Given the description of an element on the screen output the (x, y) to click on. 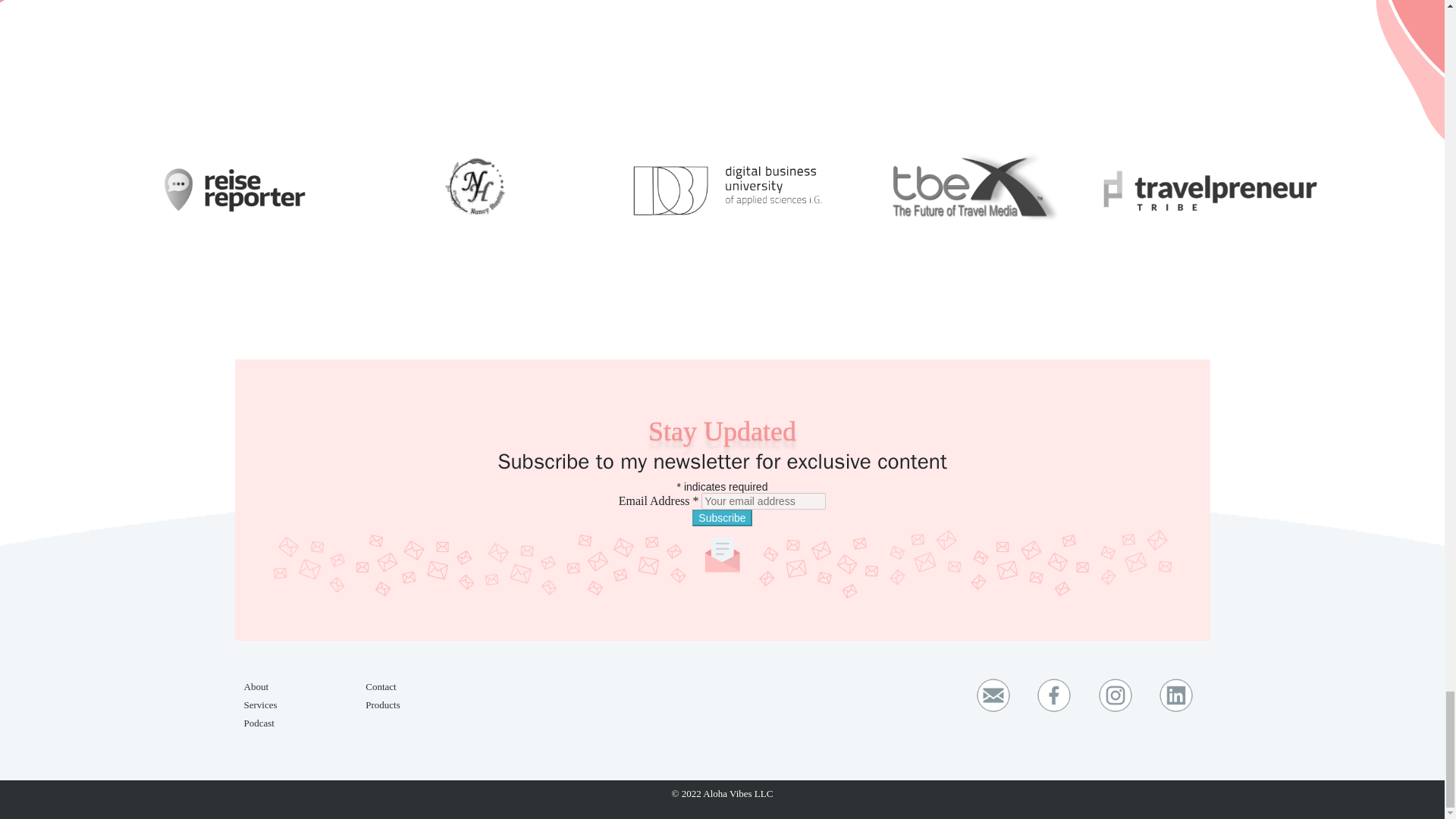
Contact (380, 686)
Subscribe (722, 517)
Services (261, 704)
Products (382, 704)
Podcast (259, 722)
Subscribe (722, 517)
About (256, 686)
